Given the description of an element on the screen output the (x, y) to click on. 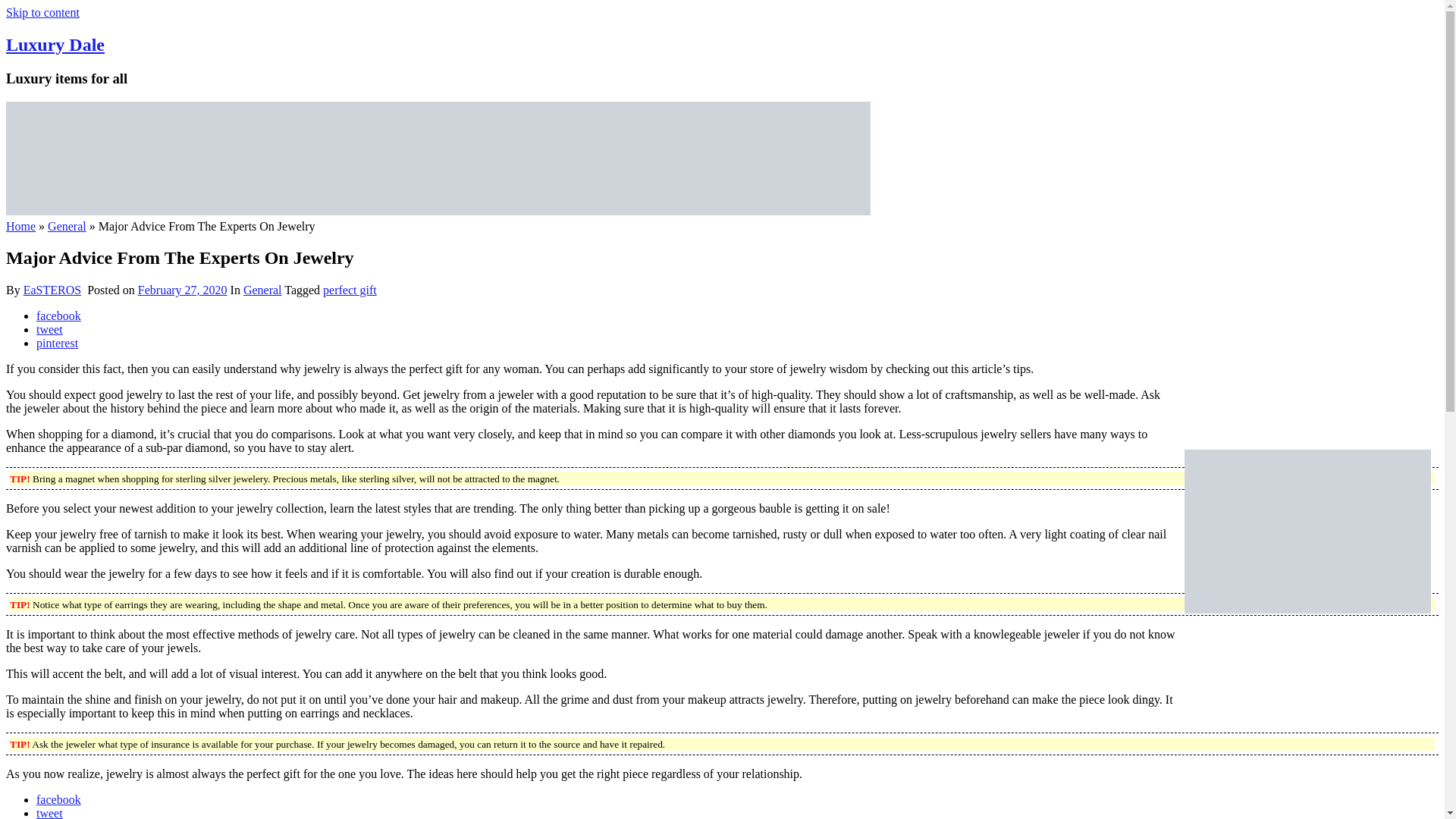
perfect gift (350, 289)
General (262, 289)
tweet (49, 328)
Luxury items for all (437, 210)
facebook (58, 799)
February 27, 2020 (182, 289)
Luxury items for all (54, 44)
Luxury Dale (54, 44)
tweet (49, 812)
EaSTEROS (52, 289)
Skip to content (42, 11)
facebook (58, 315)
Home (19, 226)
General (66, 226)
pinterest (57, 342)
